Given the description of an element on the screen output the (x, y) to click on. 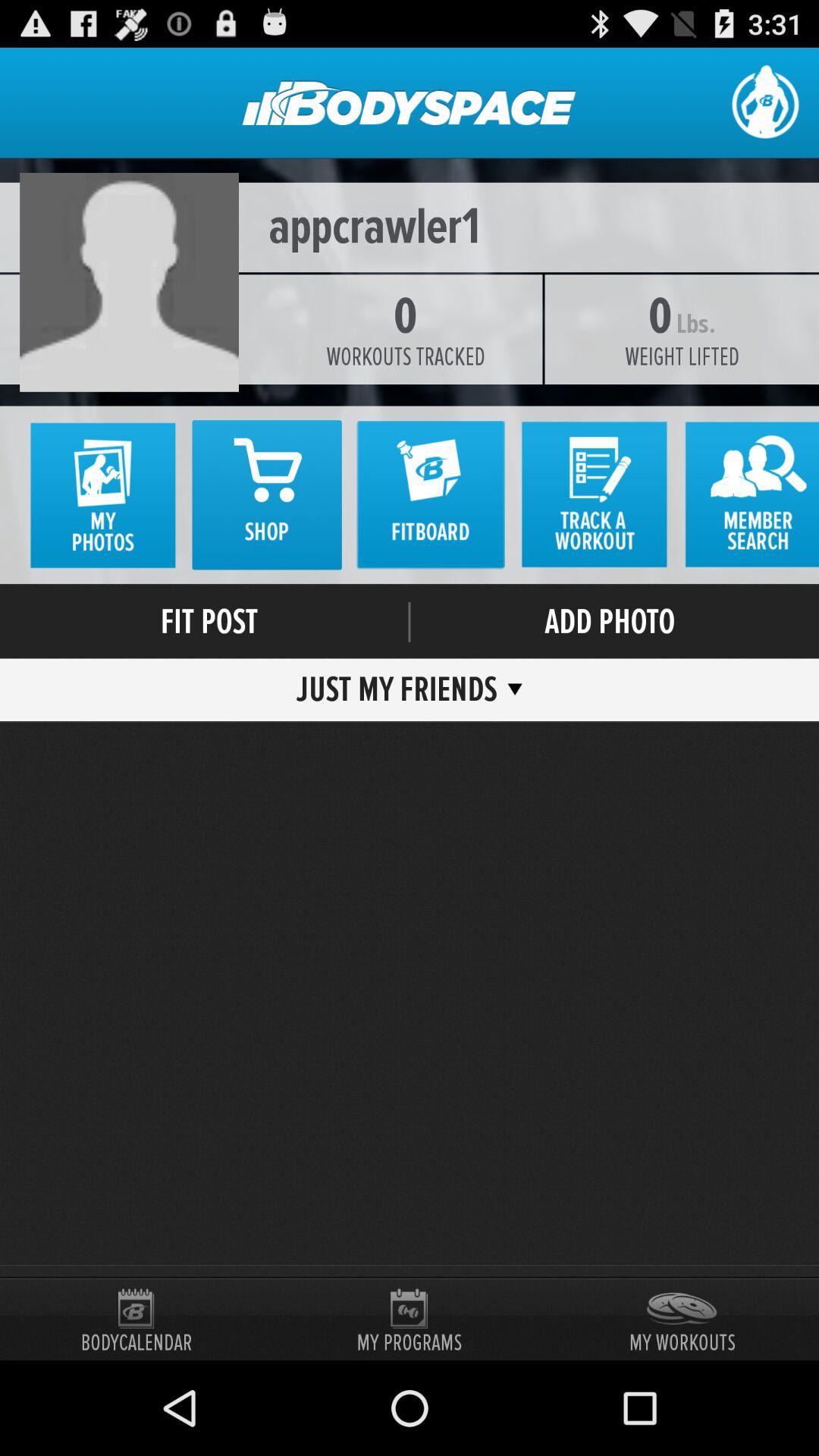
select the item next to fit post icon (409, 622)
